Given the description of an element on the screen output the (x, y) to click on. 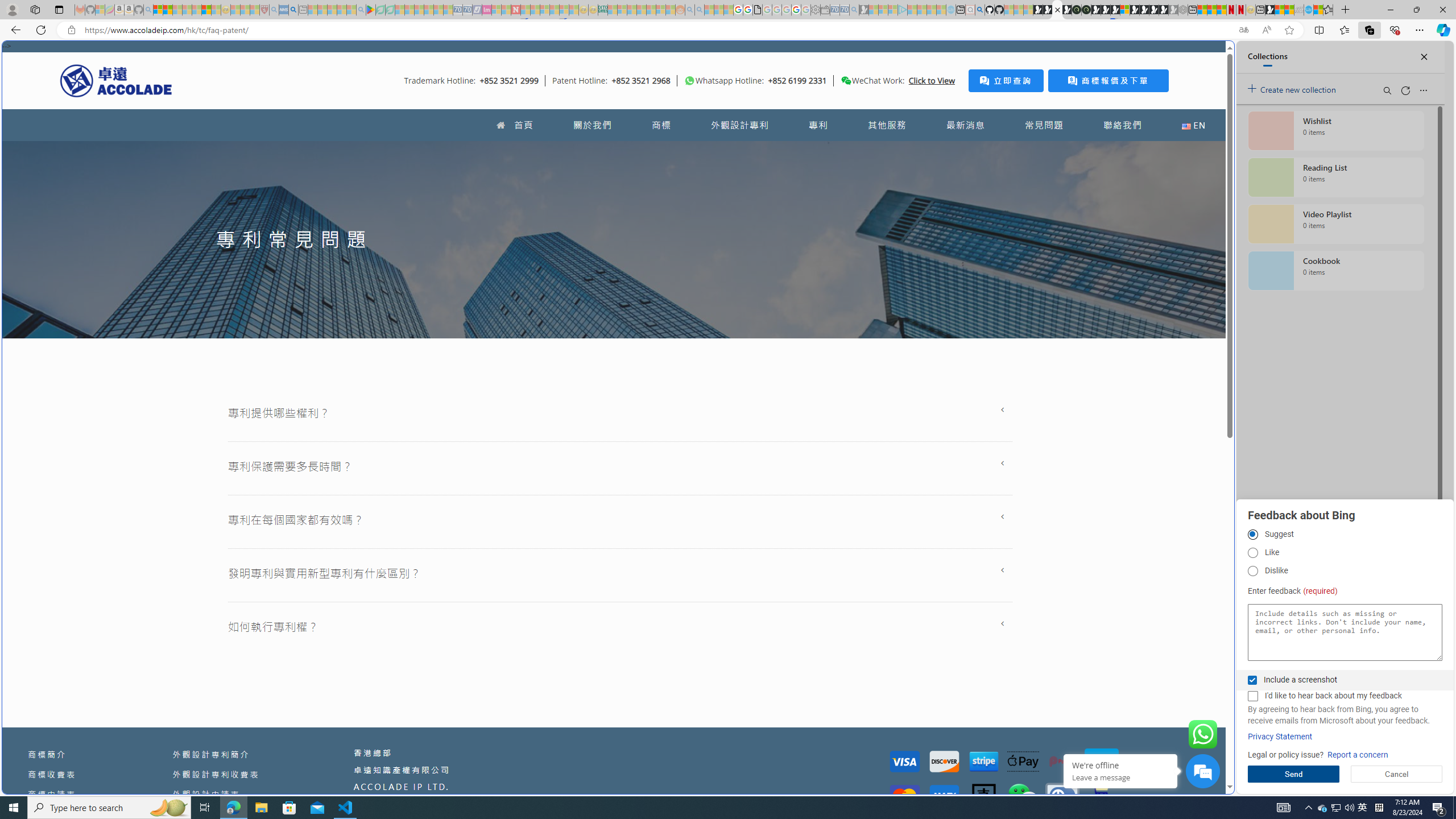
Report a concern (1358, 755)
Play Zoo Boom in your browser | Games from Microsoft Start (1047, 9)
Services - Maintenance | Sky Blue Bikes - Sky Blue Bikes (1307, 9)
